Given the description of an element on the screen output the (x, y) to click on. 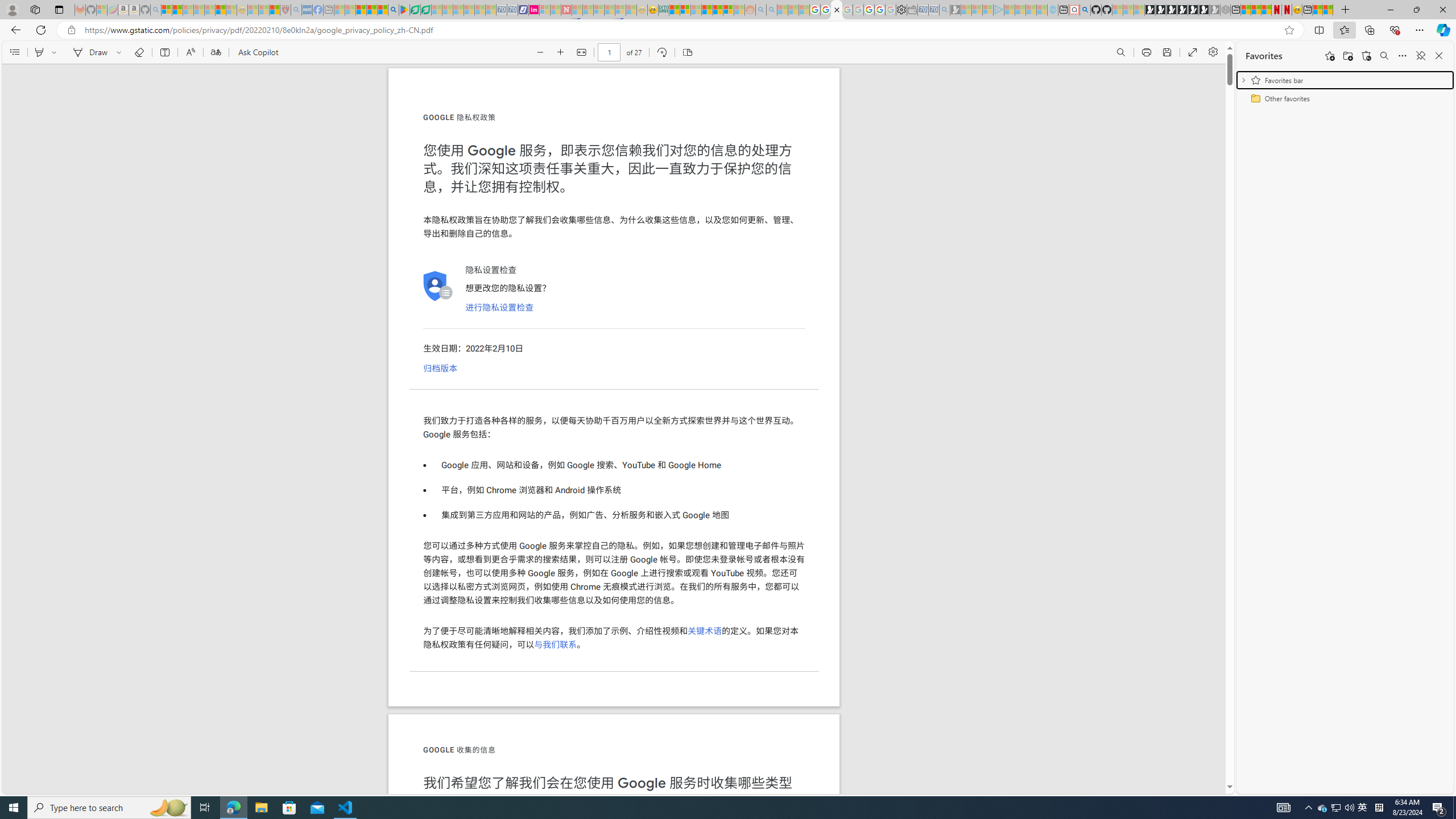
Erase (138, 52)
Fit to width (Ctrl+\) (581, 52)
